Given the description of an element on the screen output the (x, y) to click on. 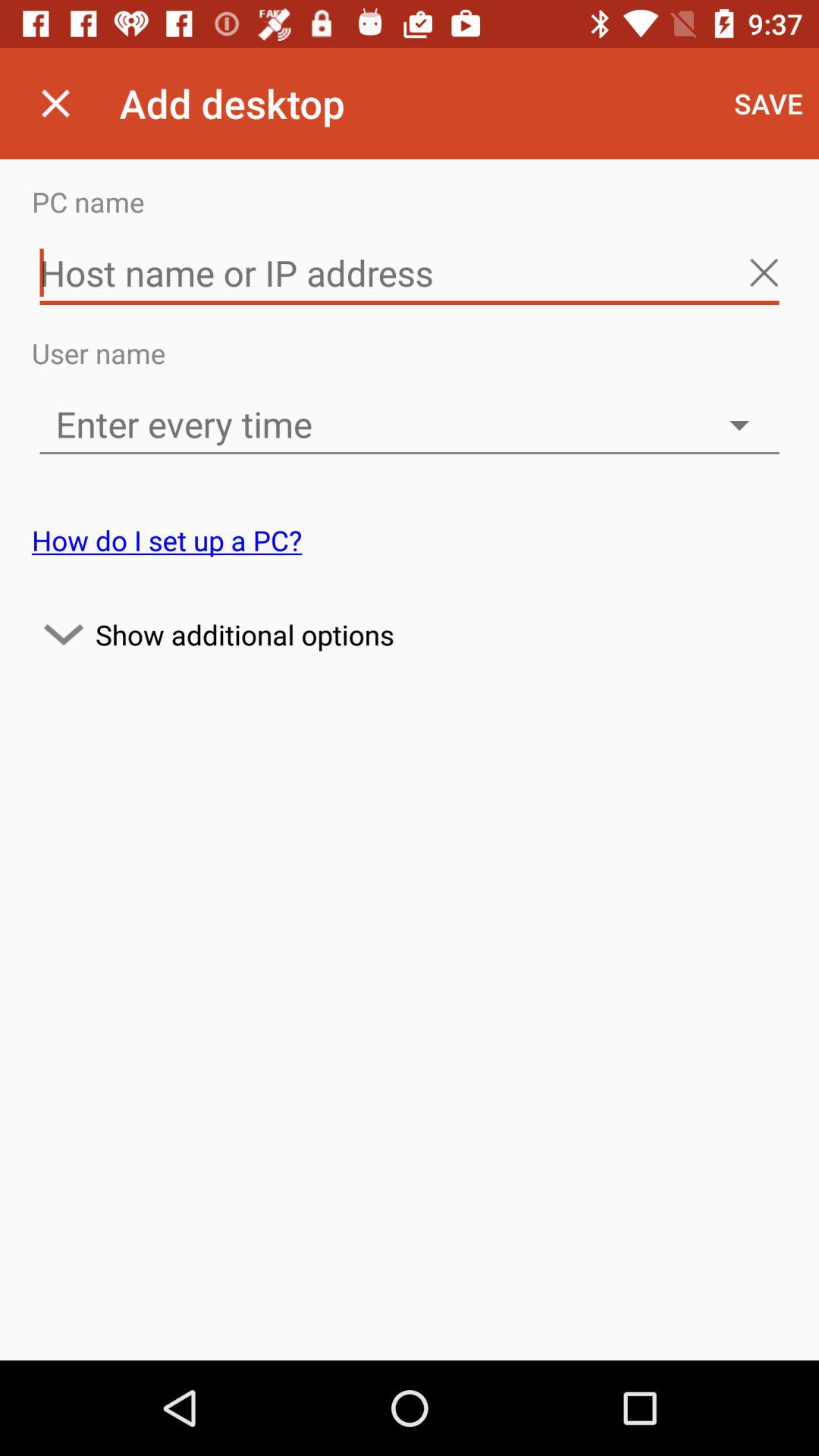
jump until the show additional options item (409, 634)
